Given the description of an element on the screen output the (x, y) to click on. 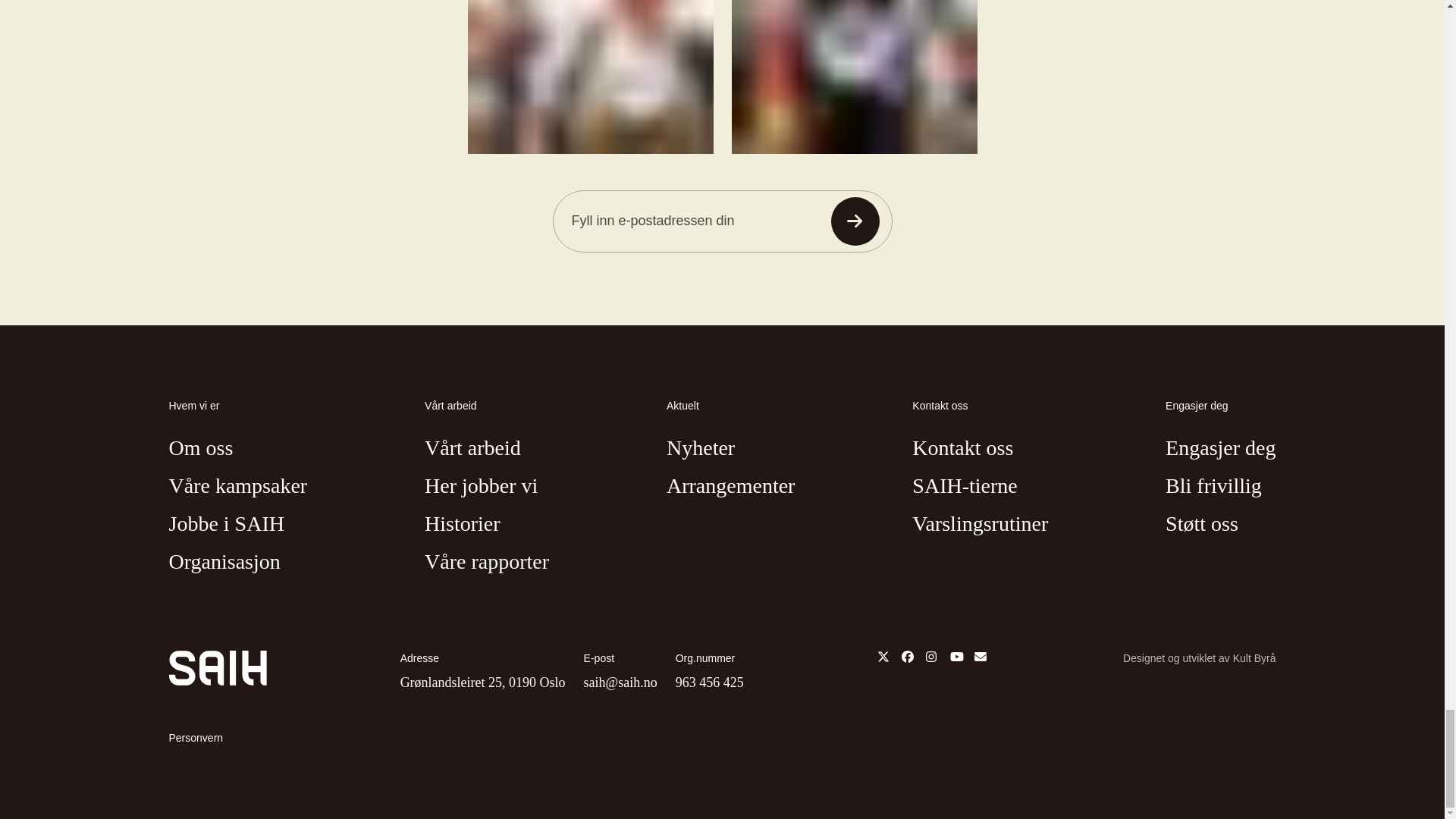
Arrangementer (730, 486)
Nyheter (700, 448)
Her jobber vi (481, 486)
SAIH-tierne (964, 486)
Kontakt oss (962, 448)
Jobbe i SAIH (225, 524)
Send inn (855, 221)
Om oss (200, 448)
Historier (462, 524)
Organisasjon (223, 561)
